Given the description of an element on the screen output the (x, y) to click on. 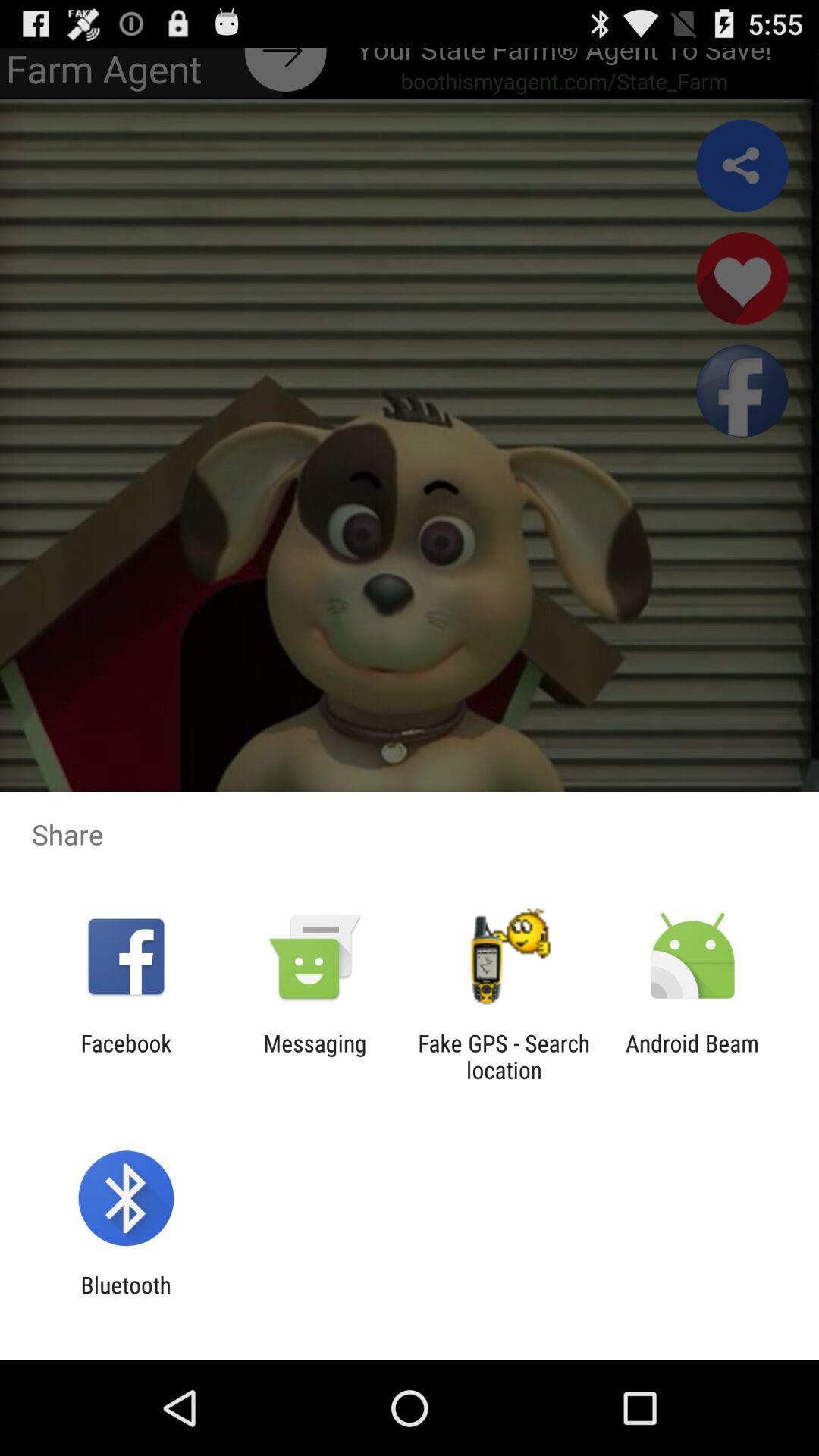
choose the messaging item (314, 1056)
